Given the description of an element on the screen output the (x, y) to click on. 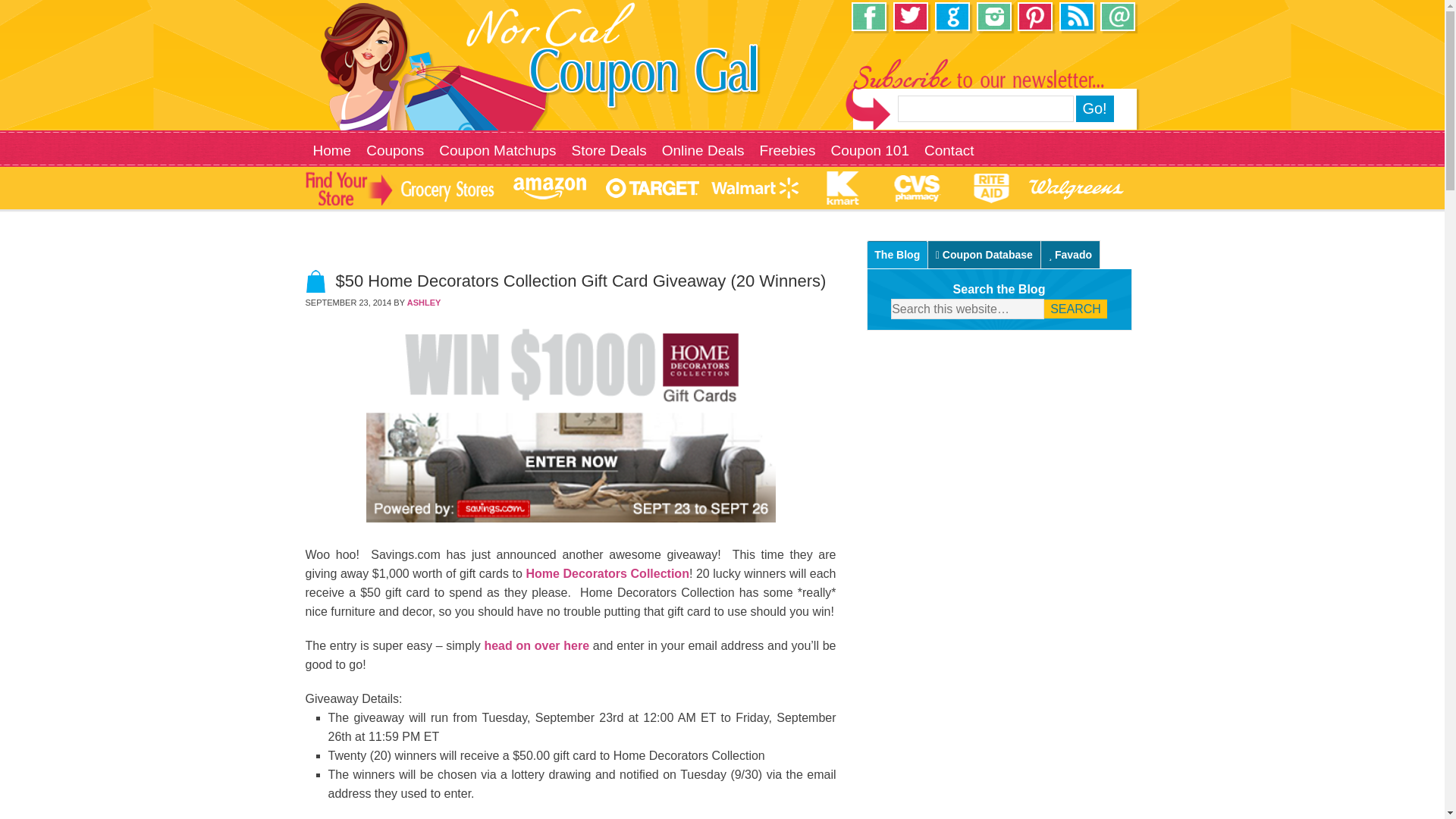
NorCal Coupon Gal (494, 54)
Go! (1094, 108)
Store Deals (608, 150)
Advertisement (1000, 454)
Home (331, 150)
Coupon Matchups (496, 150)
Coupons (394, 150)
Coupon 101 (869, 150)
Advertisement (999, 695)
Online Deals (702, 150)
Freebies (788, 150)
Search (1074, 308)
Contact (949, 150)
